Given the description of an element on the screen output the (x, y) to click on. 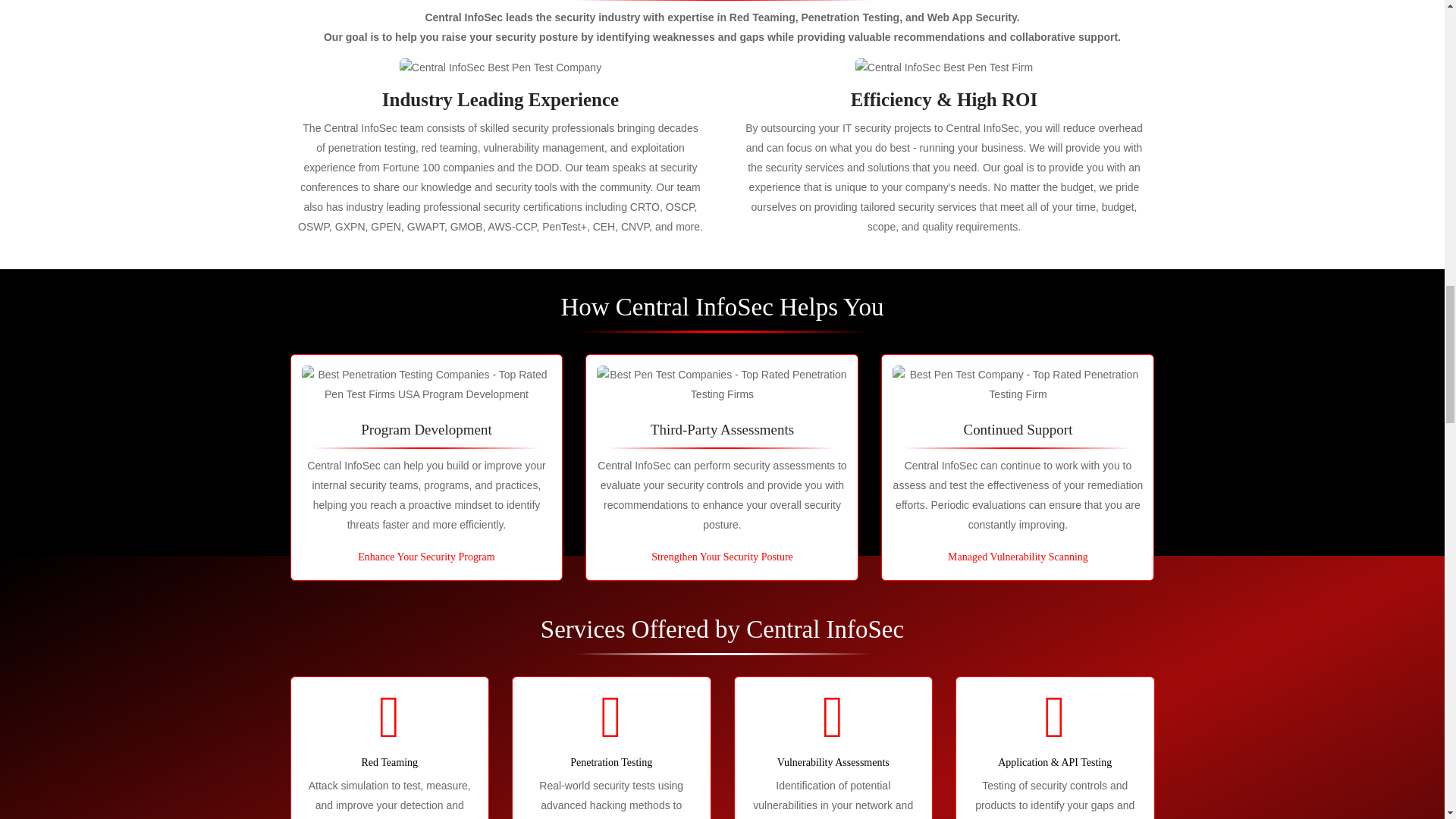
Managed Vulnerability Scanning (1018, 557)
Central InfoSec Best Pen Test Firm (944, 67)
Best Pen Test Company - Top Rated Penetration Testing Firm (1017, 384)
Central InfoSec Best Pen Test Company (499, 67)
Enhance Your Security Program (426, 557)
Strengthen Your Security Posture (721, 557)
